Given the description of an element on the screen output the (x, y) to click on. 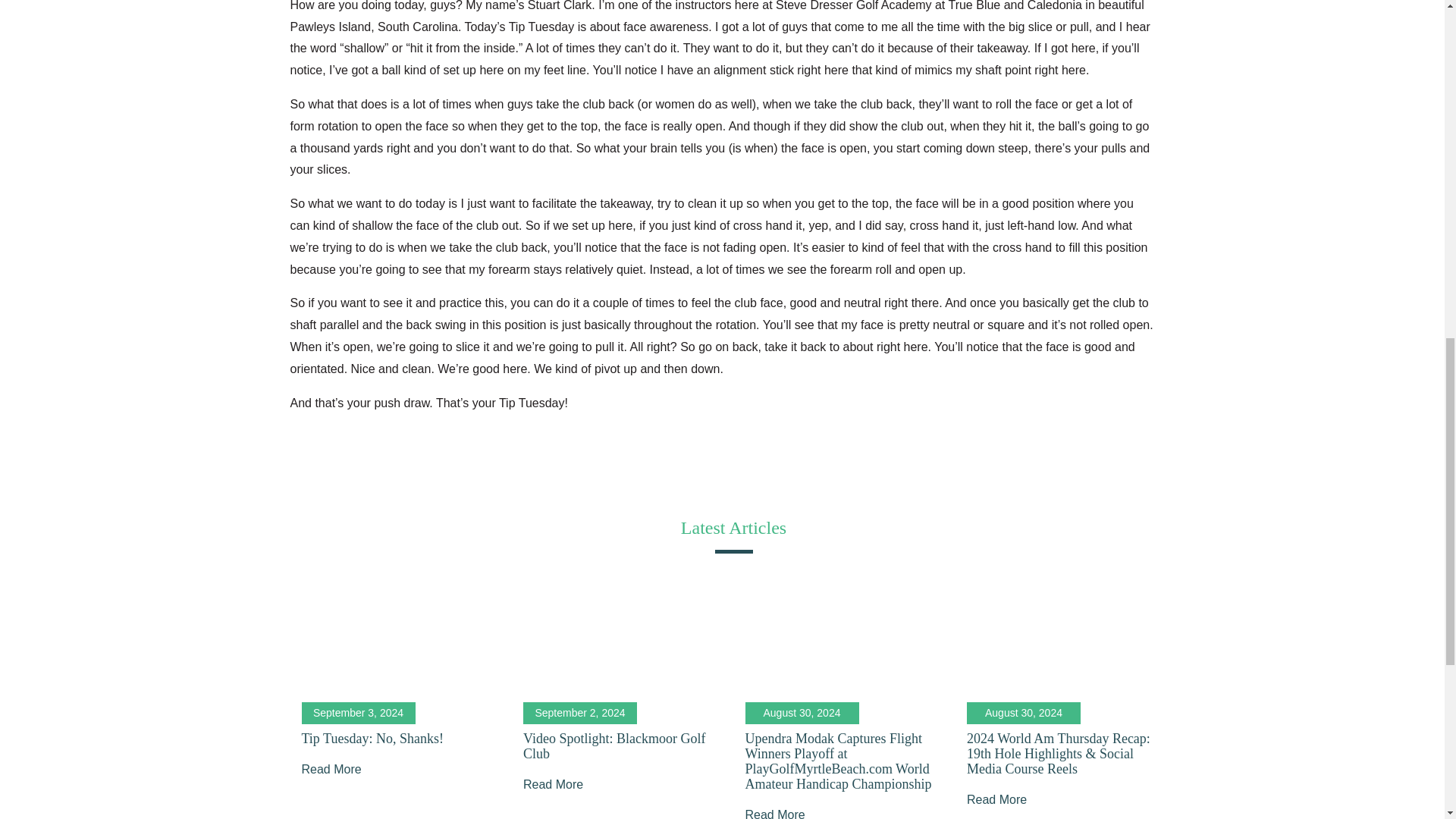
Video Spotlight: Blackmoor Golf Club (613, 746)
Read More (996, 799)
Tip Tuesday: No, Shanks! (372, 738)
Read More (331, 768)
Read More (774, 813)
Read More (552, 784)
